Given the description of an element on the screen output the (x, y) to click on. 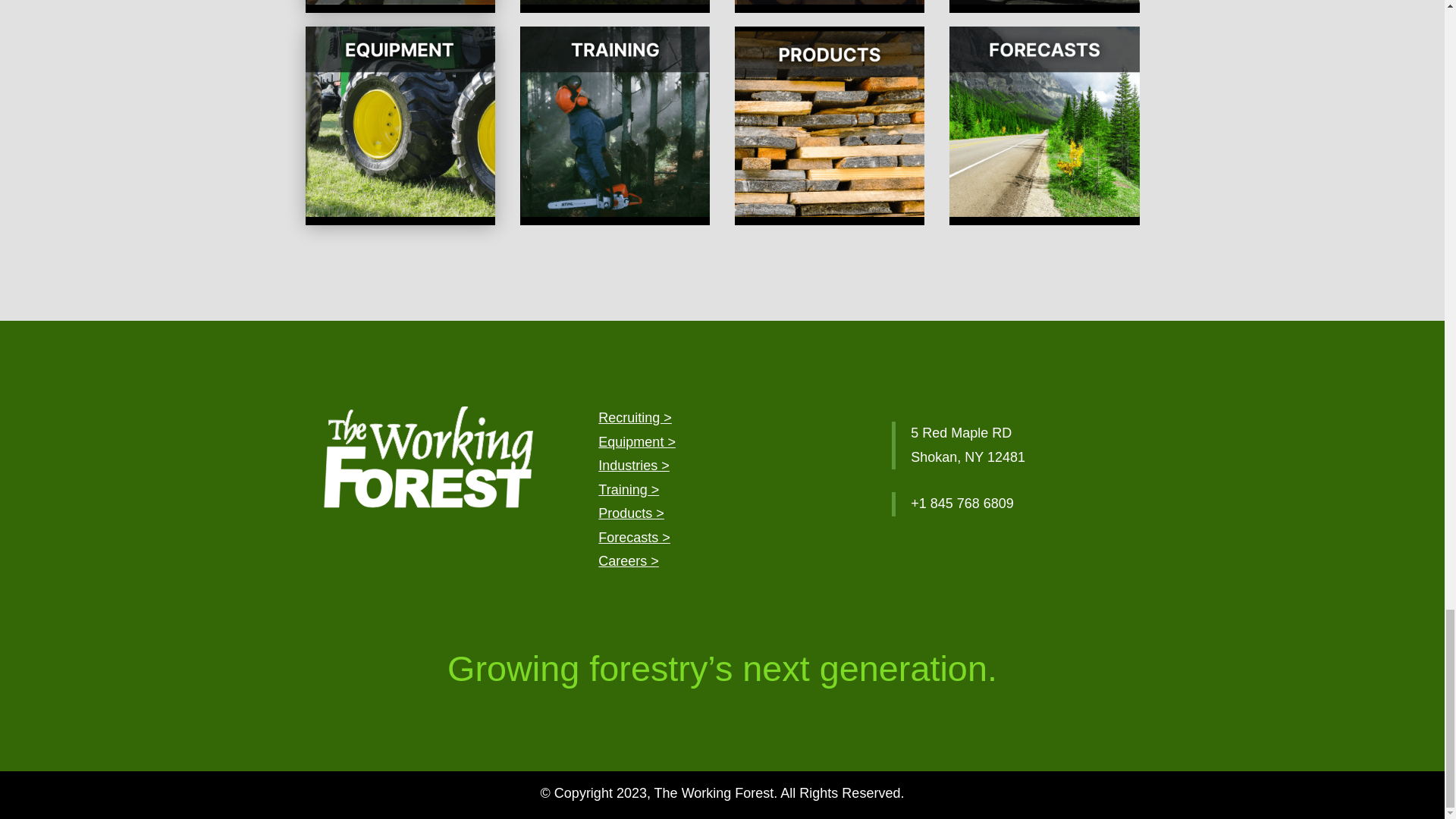
Equipment Information (636, 441)
Recruiting Information (634, 417)
Career Information (628, 560)
Training Information (628, 489)
Products (630, 513)
Industries (633, 465)
Forcasts (633, 537)
